Given the description of an element on the screen output the (x, y) to click on. 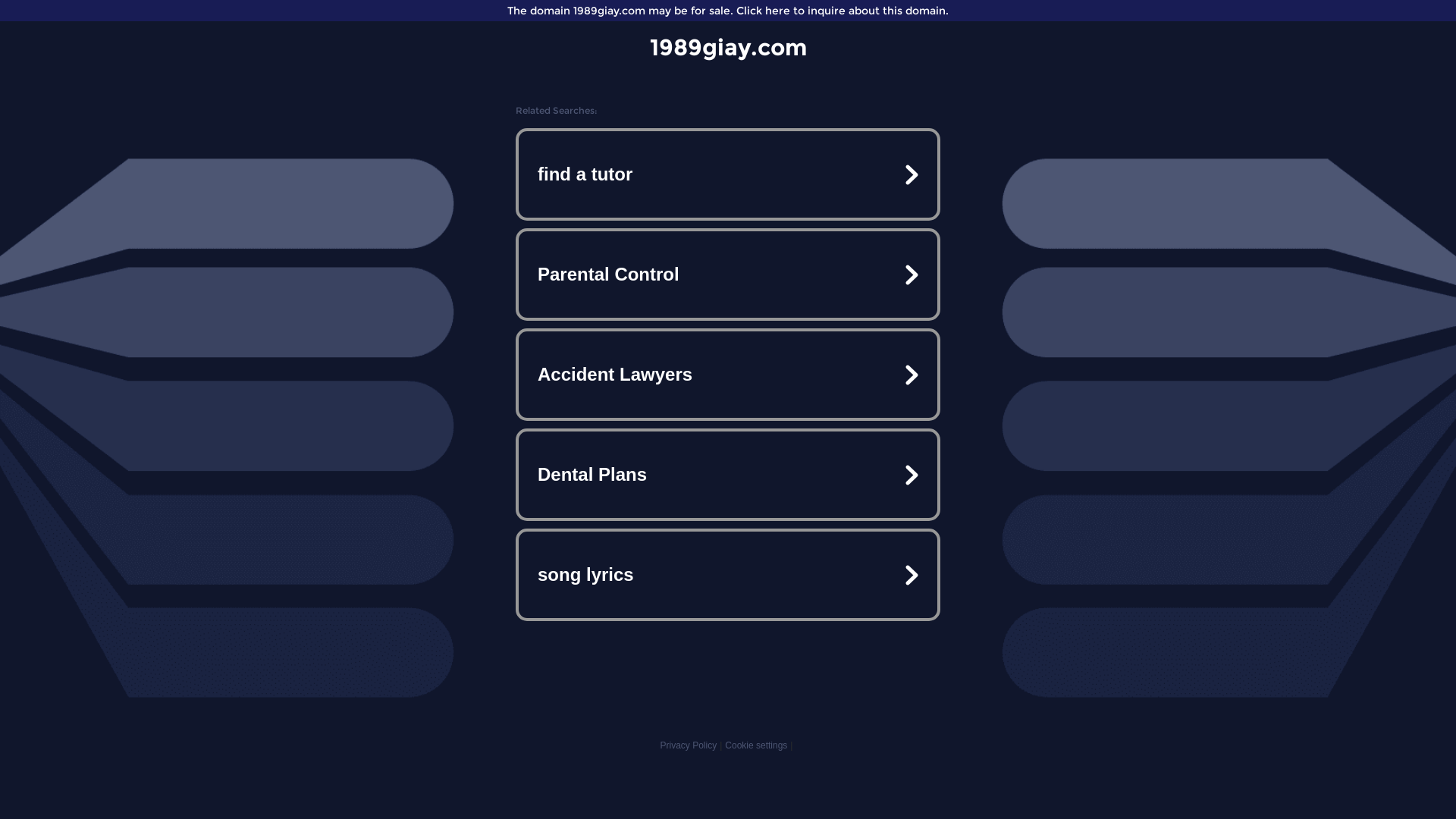
Privacy Policy Element type: text (687, 745)
find a tutor Element type: text (727, 174)
Cookie settings Element type: text (755, 745)
Parental Control Element type: text (727, 274)
Dental Plans Element type: text (727, 474)
song lyrics Element type: text (727, 574)
Accident Lawyers Element type: text (727, 374)
1989giay.com Element type: text (727, 47)
